Given the description of an element on the screen output the (x, y) to click on. 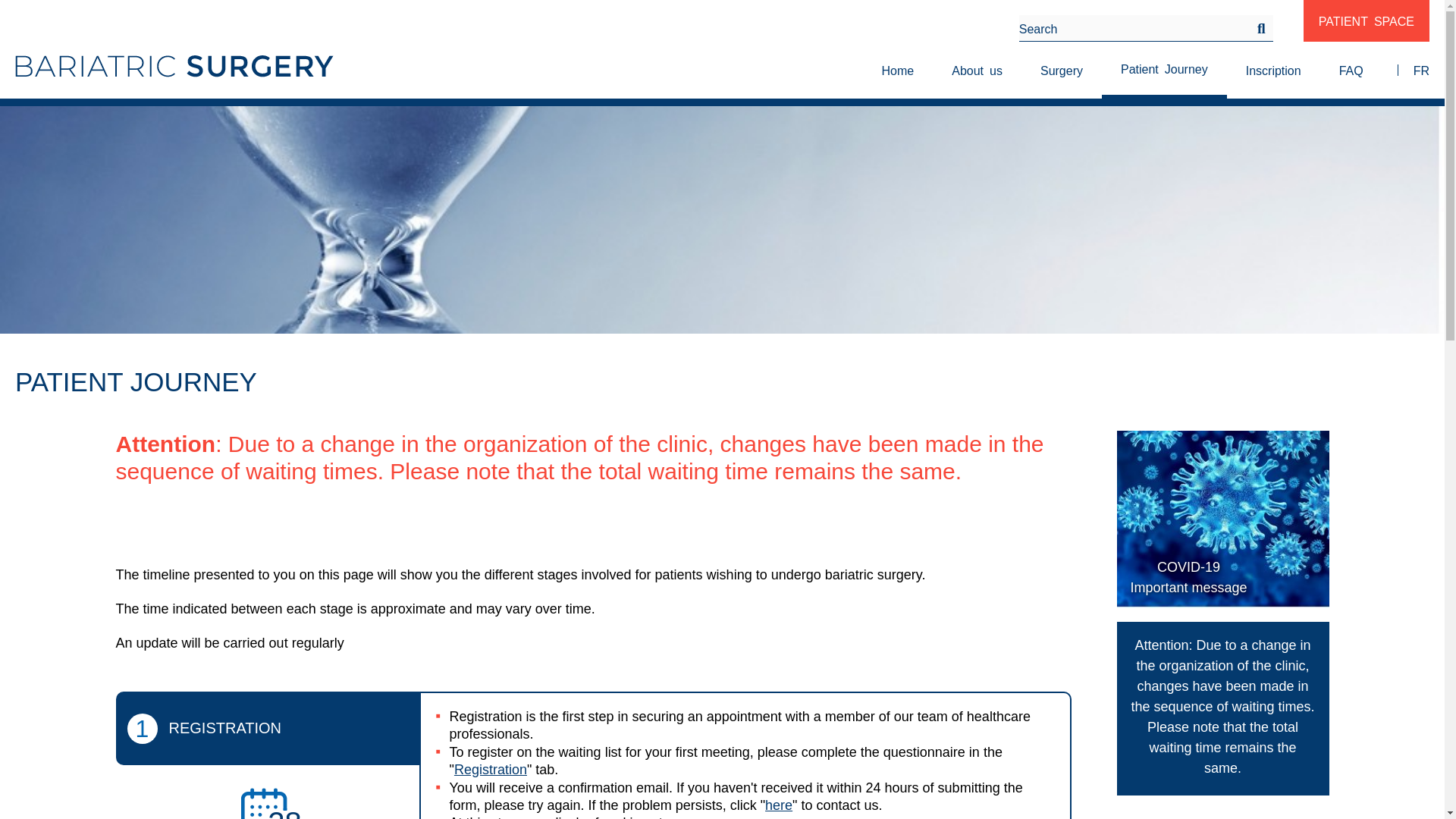
here (778, 805)
Registration (490, 769)
FAQ (1221, 522)
Inscription (1350, 69)
PATIENT SPACE (1273, 69)
About us (1366, 20)
Patient Journey (977, 69)
Surgery (1164, 69)
Home (1062, 69)
